Given the description of an element on the screen output the (x, y) to click on. 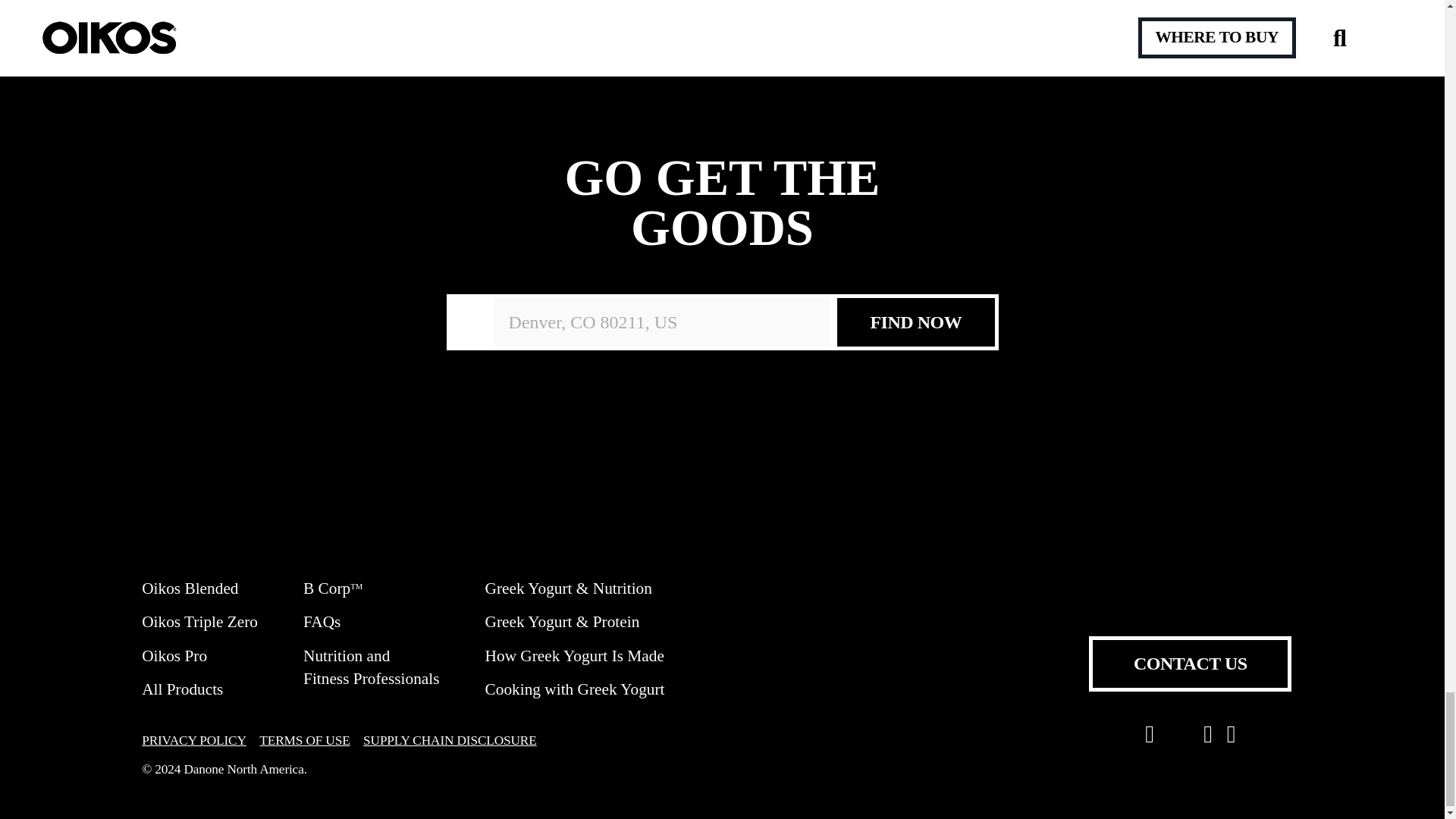
FIND NOW (914, 321)
